Given the description of an element on the screen output the (x, y) to click on. 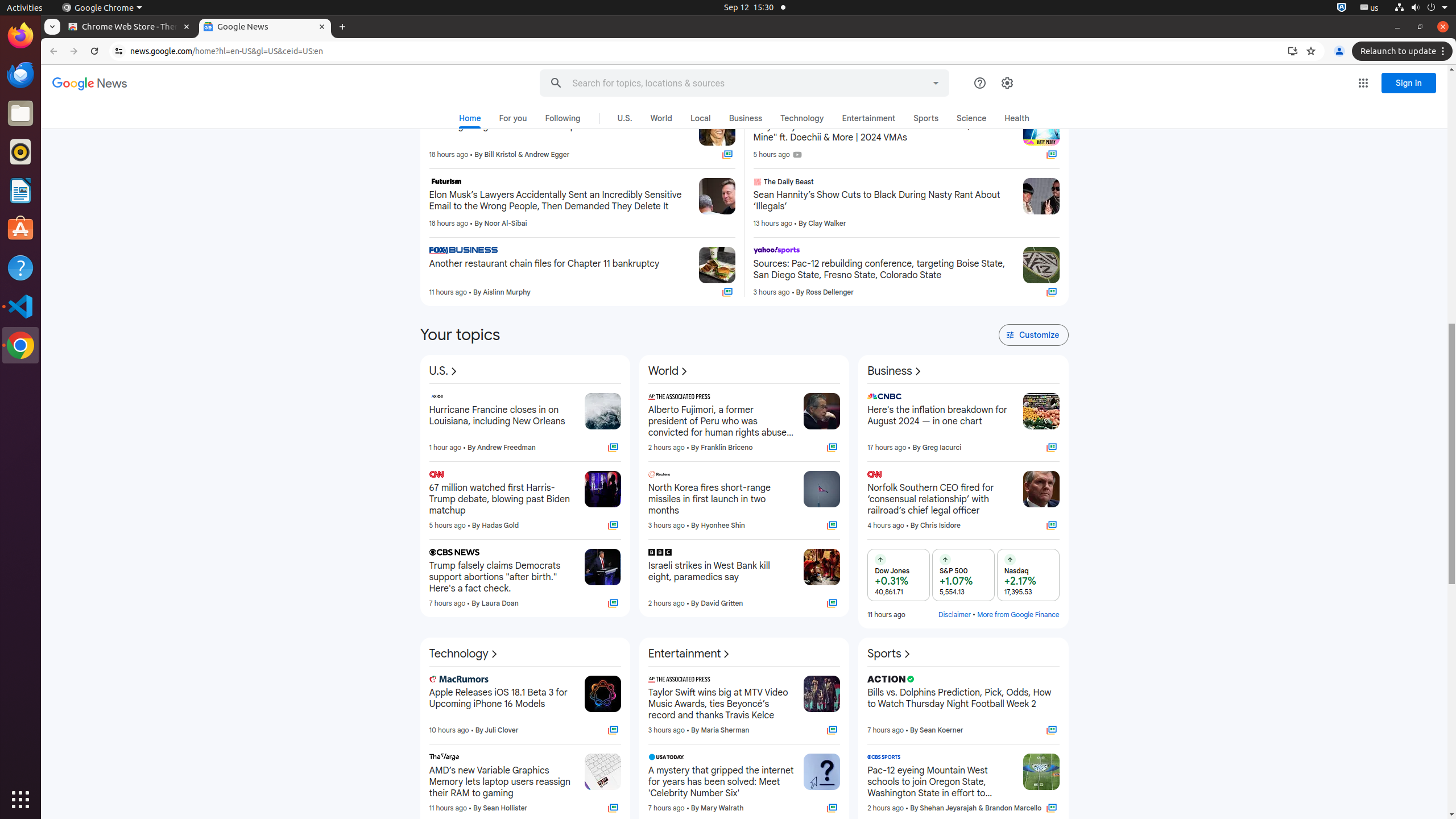
Norfolk Southern CEO fired for ‘consensual relationship’ with railroad’s chief legal officer Element type: link (940, 499)
Entertainment Element type: link (689, 653)
Google News Element type: link (89, 84)
Help Element type: push-button (20, 267)
Sports Element type: link (889, 653)
